Given the description of an element on the screen output the (x, y) to click on. 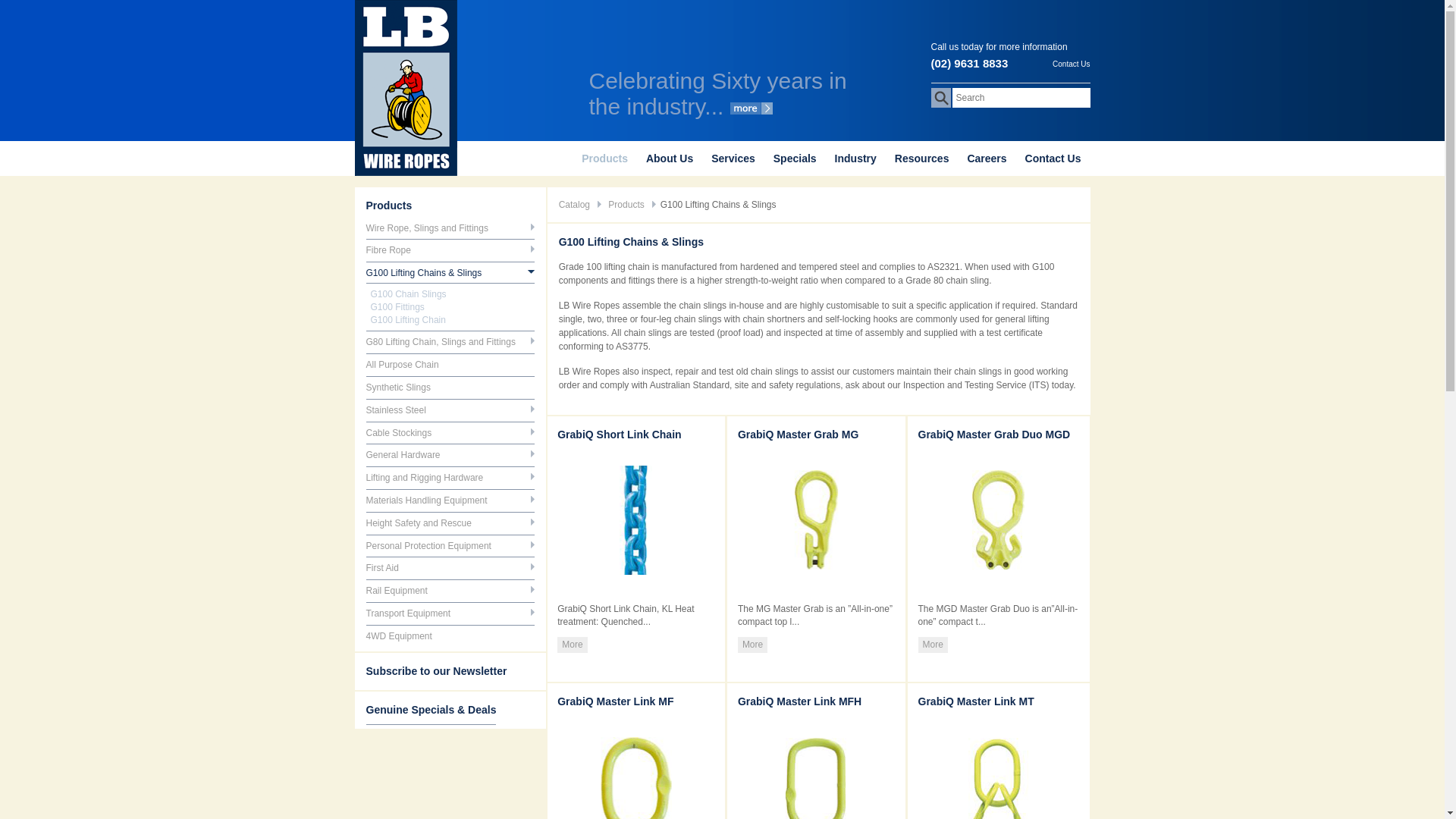
Rail Equipment Element type: text (395, 590)
Genuine Specials & Deals Element type: text (430, 709)
Contact Us Element type: text (1053, 158)
More Element type: text (932, 644)
Services Element type: text (733, 158)
Careers Element type: text (986, 158)
Catalog Element type: text (573, 204)
G100 Fittings Element type: text (396, 306)
Height Safety and Rescue Element type: text (417, 522)
G100 Lifting Chains & Slings Element type: text (423, 272)
Resources Element type: text (921, 158)
G100 Lifting Chain Element type: text (407, 319)
Products Element type: text (604, 158)
All Purpose Chain Element type: text (401, 364)
Stainless Steel Element type: text (395, 409)
(02) 9631 8833 Element type: text (969, 63)
Fibre Rope Element type: text (387, 249)
Wire Rope, Slings and Fittings Element type: text (426, 227)
Synthetic Slings Element type: text (397, 387)
Specials Element type: text (794, 158)
About Us Element type: text (669, 158)
More Element type: text (571, 644)
Cable Stockings Element type: text (398, 432)
Transport Equipment Element type: text (407, 613)
Products Element type: text (625, 204)
Subscribe to our Newsletter Element type: text (435, 671)
Industry Element type: text (855, 158)
Products Element type: text (388, 205)
4WD Equipment Element type: text (398, 635)
G100 Chain Slings Element type: text (407, 293)
G80 Lifting Chain, Slings and Fittings Element type: text (439, 341)
More Element type: text (752, 644)
General Hardware Element type: text (402, 454)
Materials Handling Equipment Element type: text (425, 500)
Contact Us Element type: text (1070, 62)
Lifting and Rigging Hardware Element type: text (424, 477)
Personal Protection Equipment Element type: text (427, 545)
First Aid Element type: text (381, 567)
